Given the description of an element on the screen output the (x, y) to click on. 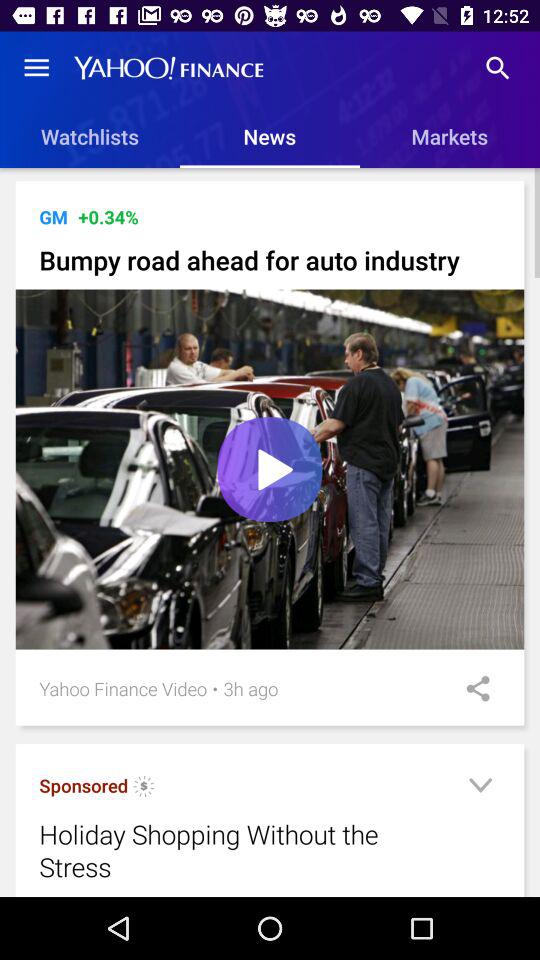
choose holiday shopping without item (244, 850)
